Given the description of an element on the screen output the (x, y) to click on. 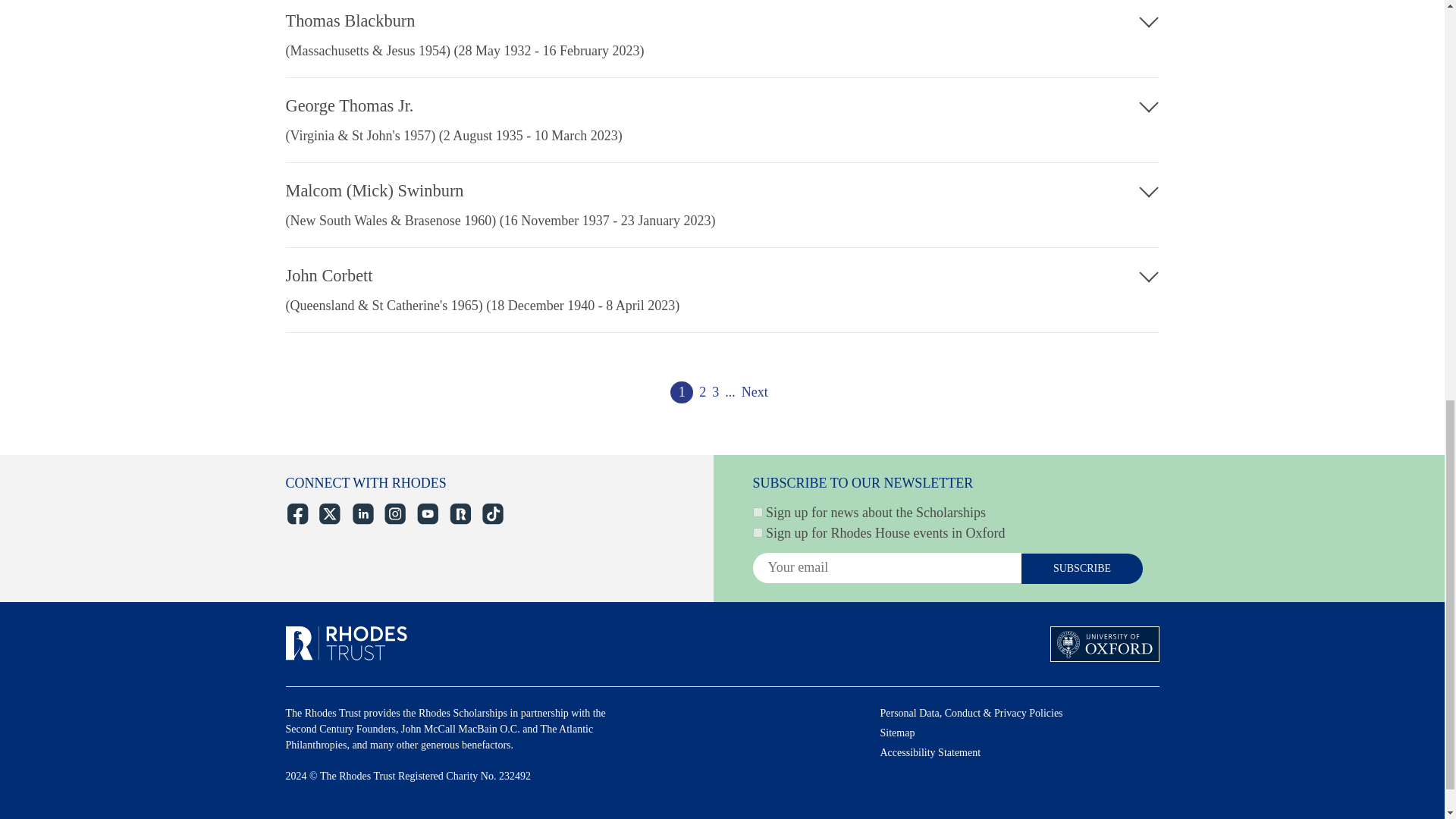
on (756, 532)
on (756, 511)
Enter your email address (886, 567)
Visit our Tik Tok page - Opens in a new window (491, 514)
